Given the description of an element on the screen output the (x, y) to click on. 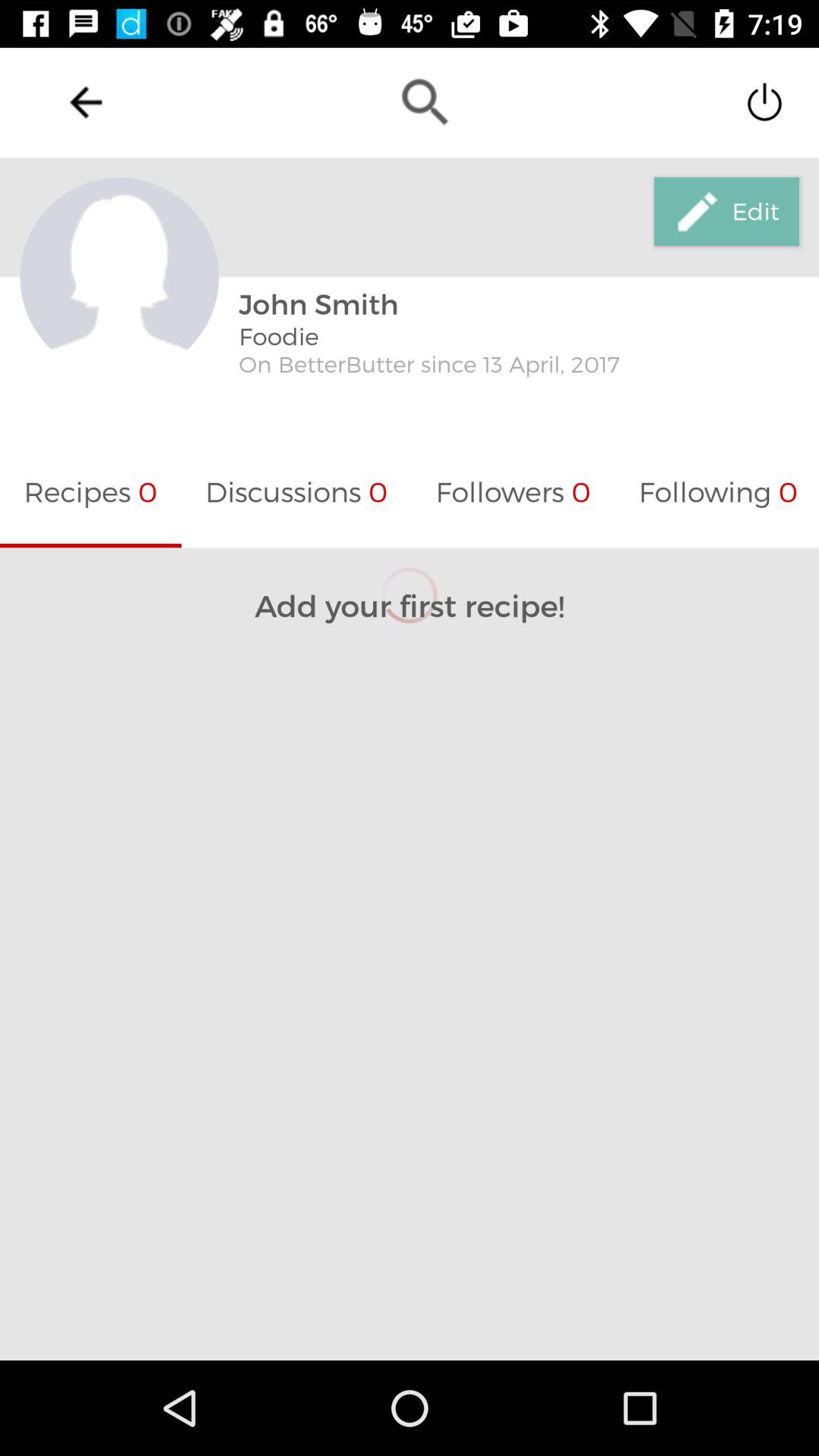
launch icon above the edit (764, 102)
